Given the description of an element on the screen output the (x, y) to click on. 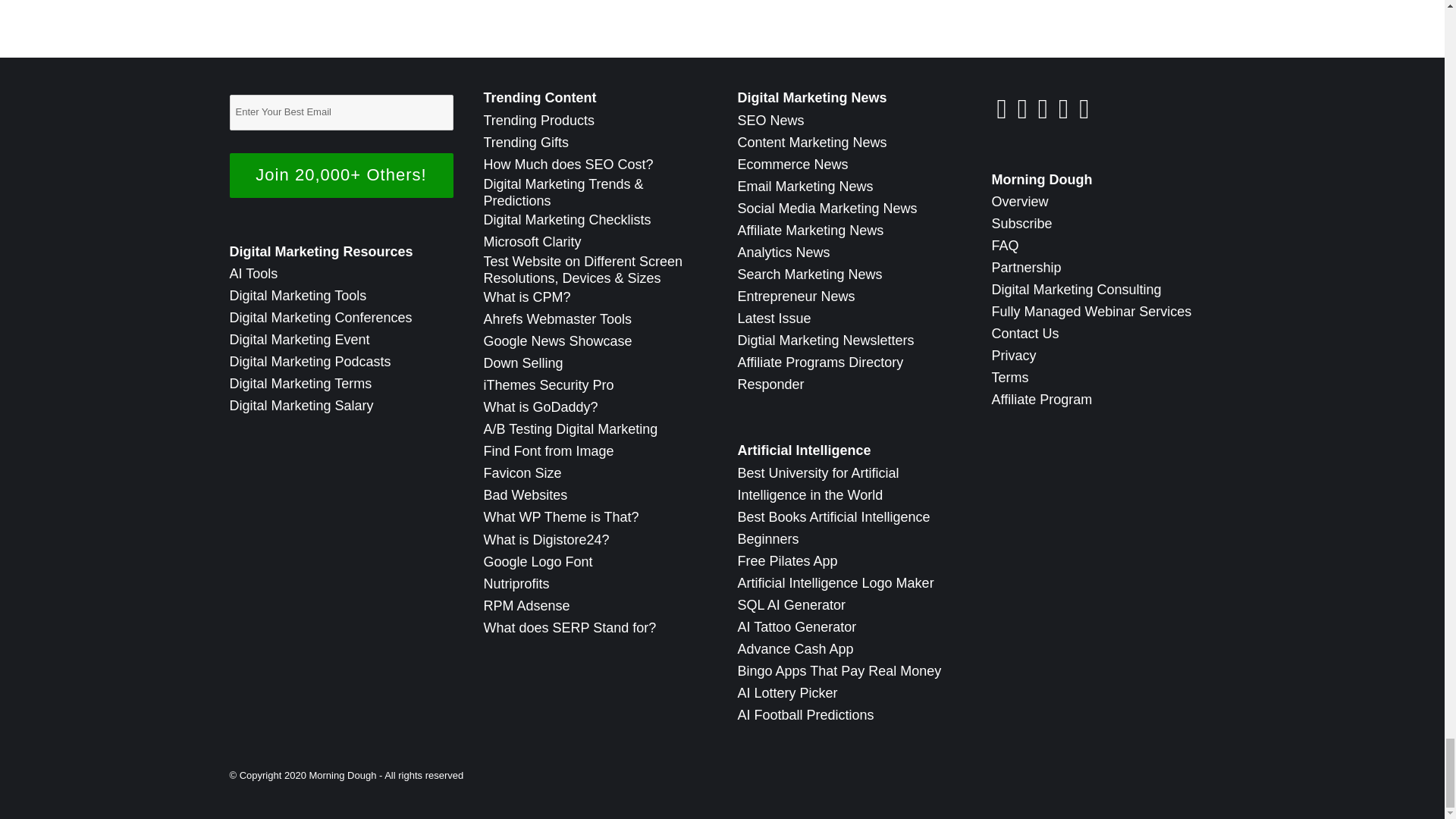
AI Tools (253, 273)
